Given the description of an element on the screen output the (x, y) to click on. 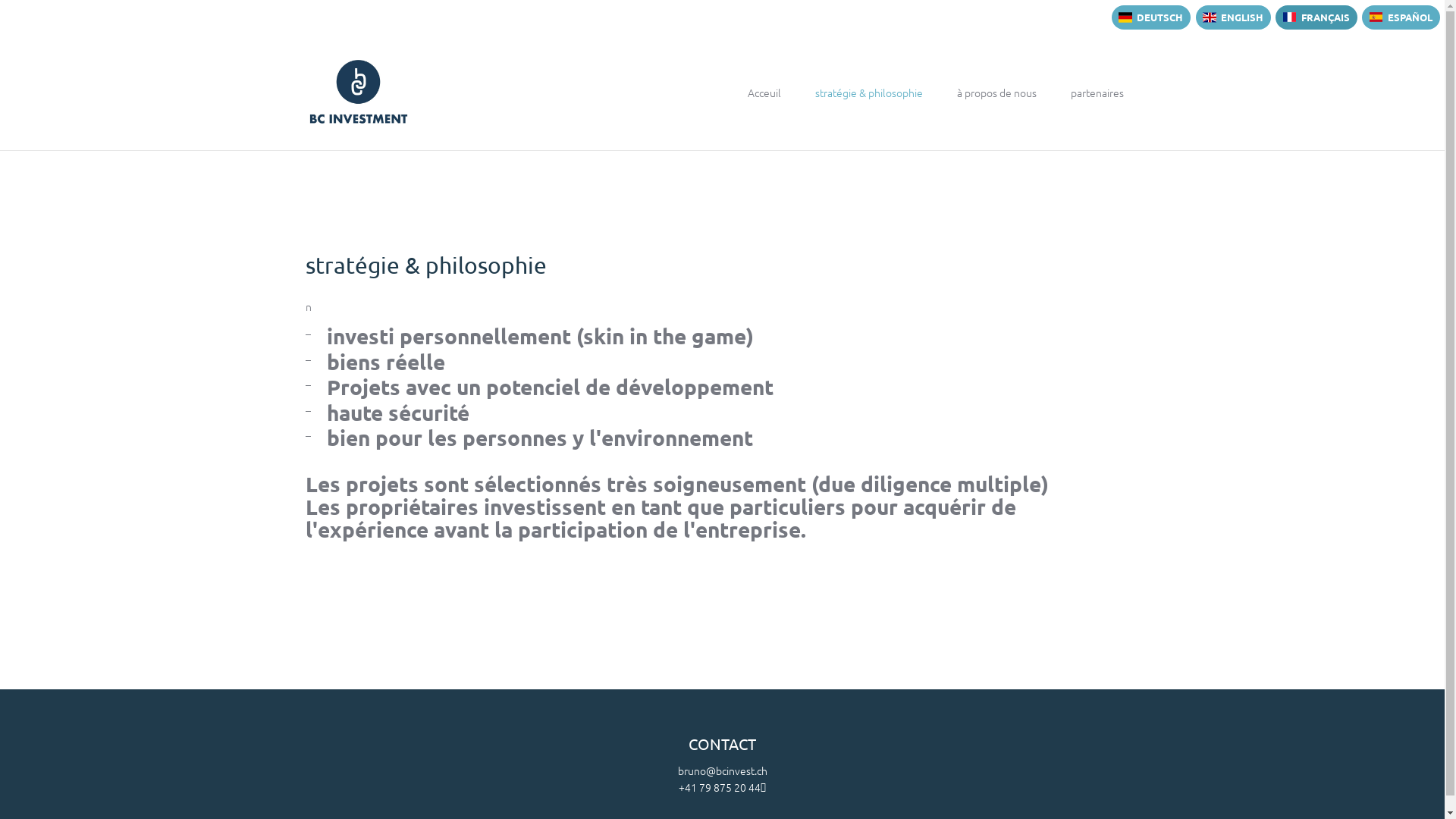
ENGLISH Element type: text (1233, 16)
+41 79 875 20 44 Element type: text (721, 786)
BC Investment AG Element type: hover (357, 91)
Acceuil Element type: text (764, 92)
bruno@bcinvest.ch Element type: text (722, 770)
partenaires Element type: text (1096, 92)
DEUTSCH Element type: text (1150, 16)
